Given the description of an element on the screen output the (x, y) to click on. 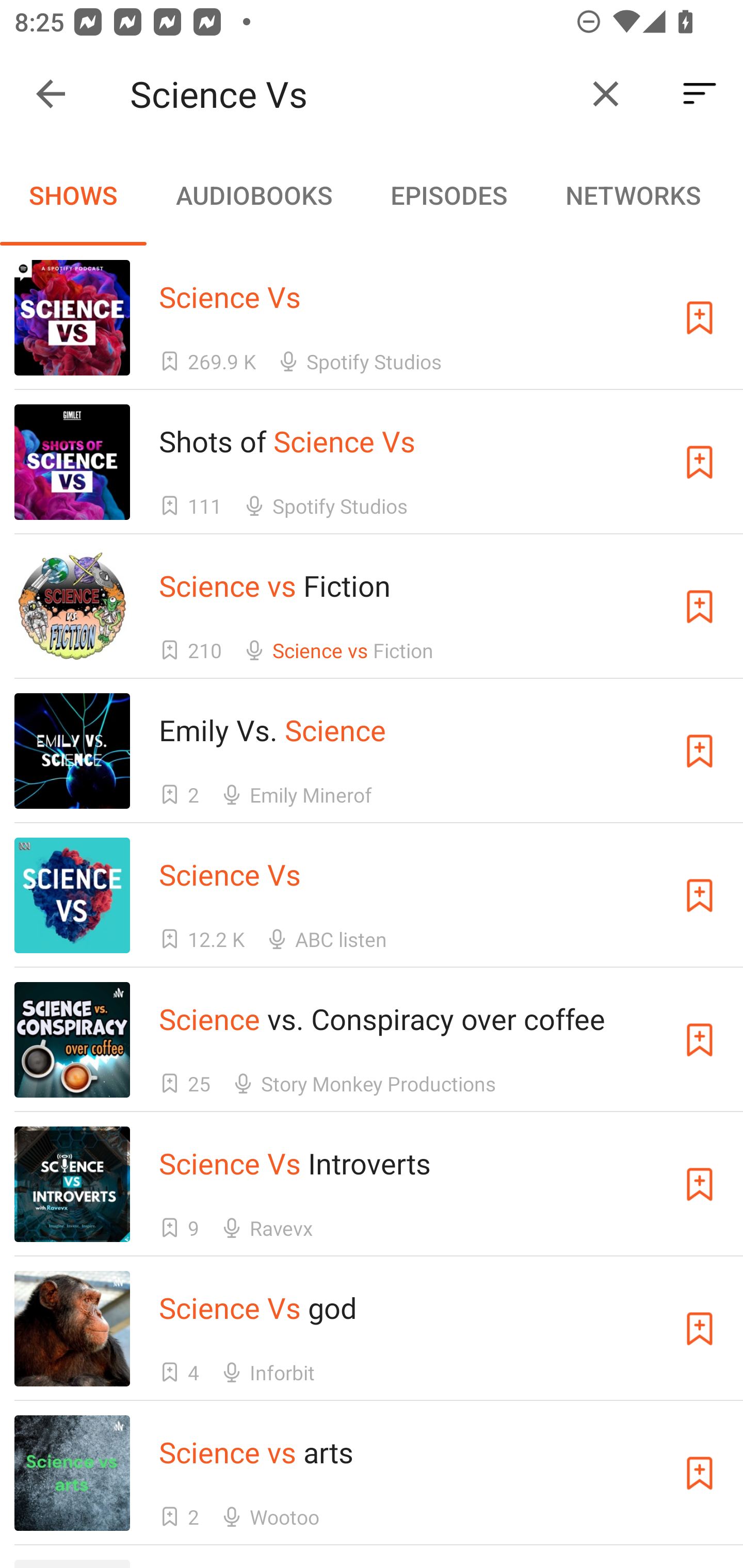
Collapse (50, 93)
Clear query (605, 93)
Sort By (699, 93)
Science Vs (349, 94)
SHOWS (73, 195)
AUDIOBOOKS (253, 195)
EPISODES (448, 195)
NETWORKS (632, 195)
Subscribe (699, 317)
Subscribe (699, 462)
Subscribe (699, 606)
Subscribe (699, 751)
Subscribe (699, 895)
Subscribe (699, 1039)
Subscribe (699, 1183)
Subscribe (699, 1328)
Subscribe (699, 1472)
